Given the description of an element on the screen output the (x, y) to click on. 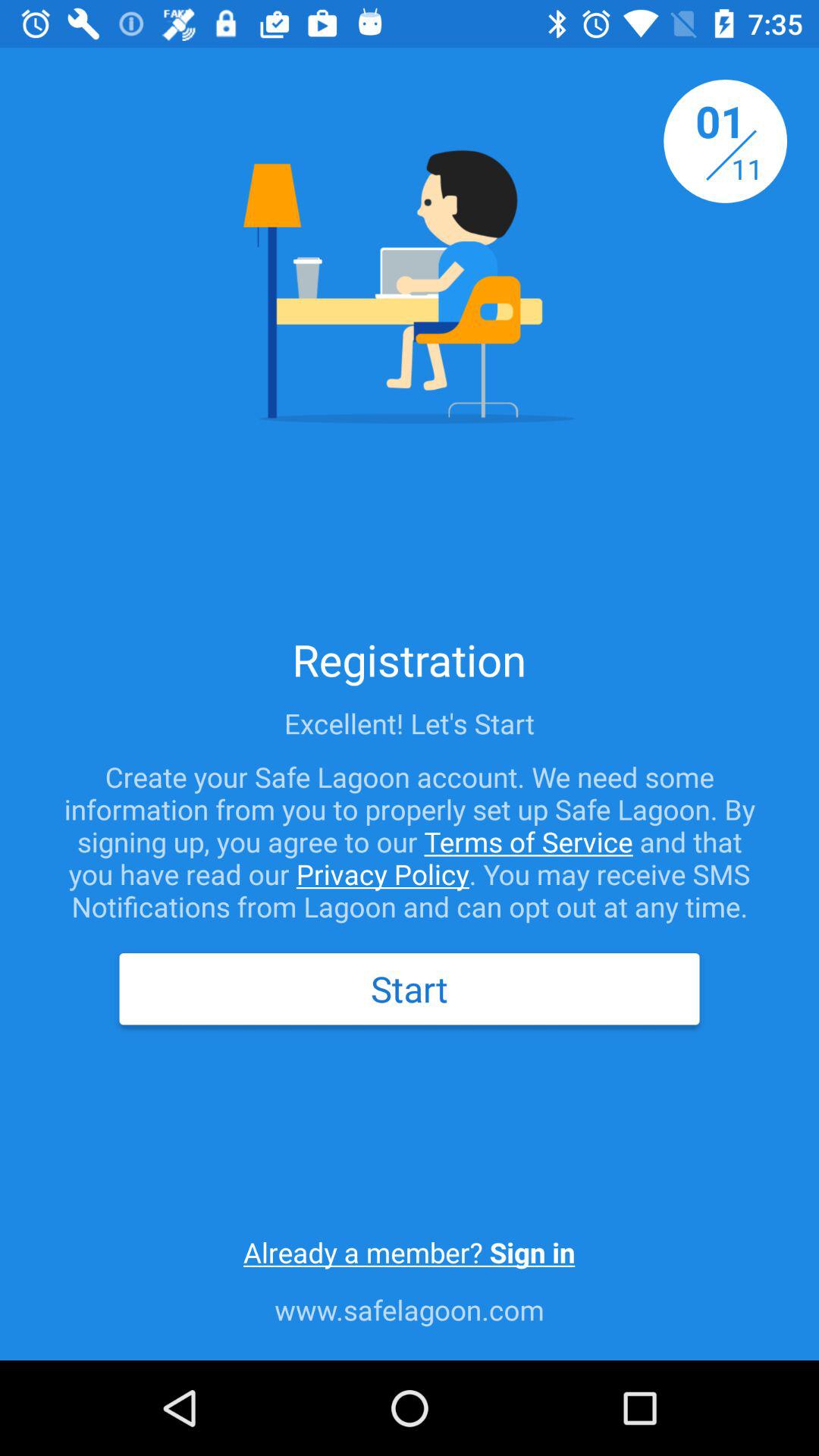
launch the item above start item (409, 841)
